Given the description of an element on the screen output the (x, y) to click on. 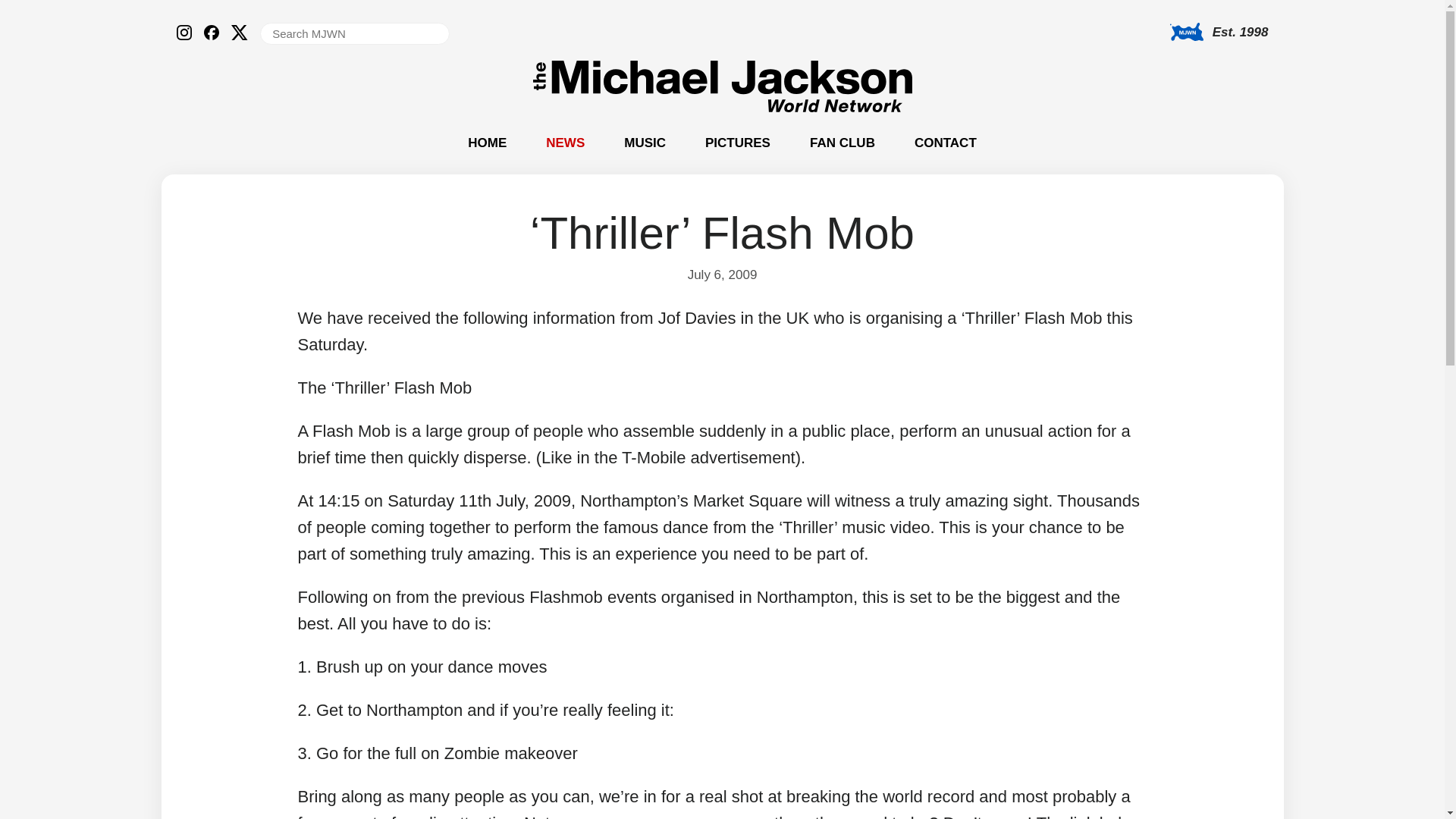
CONTACT (945, 143)
HOME (486, 143)
FAN CLUB (841, 143)
NEWS (565, 143)
PICTURES (738, 143)
MUSIC (644, 143)
